Given the description of an element on the screen output the (x, y) to click on. 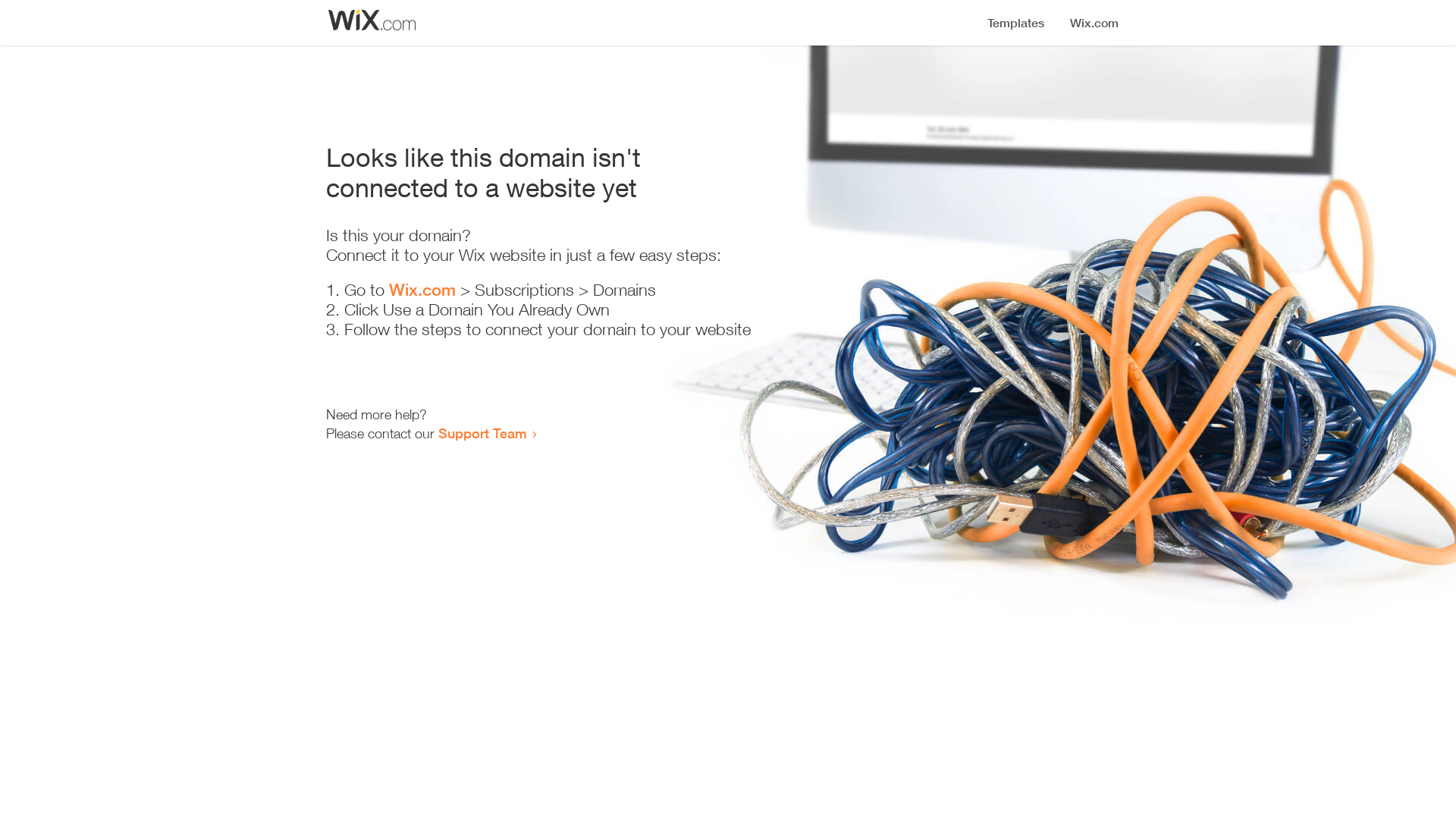
Wix.com Element type: text (422, 289)
Support Team Element type: text (482, 432)
